Given the description of an element on the screen output the (x, y) to click on. 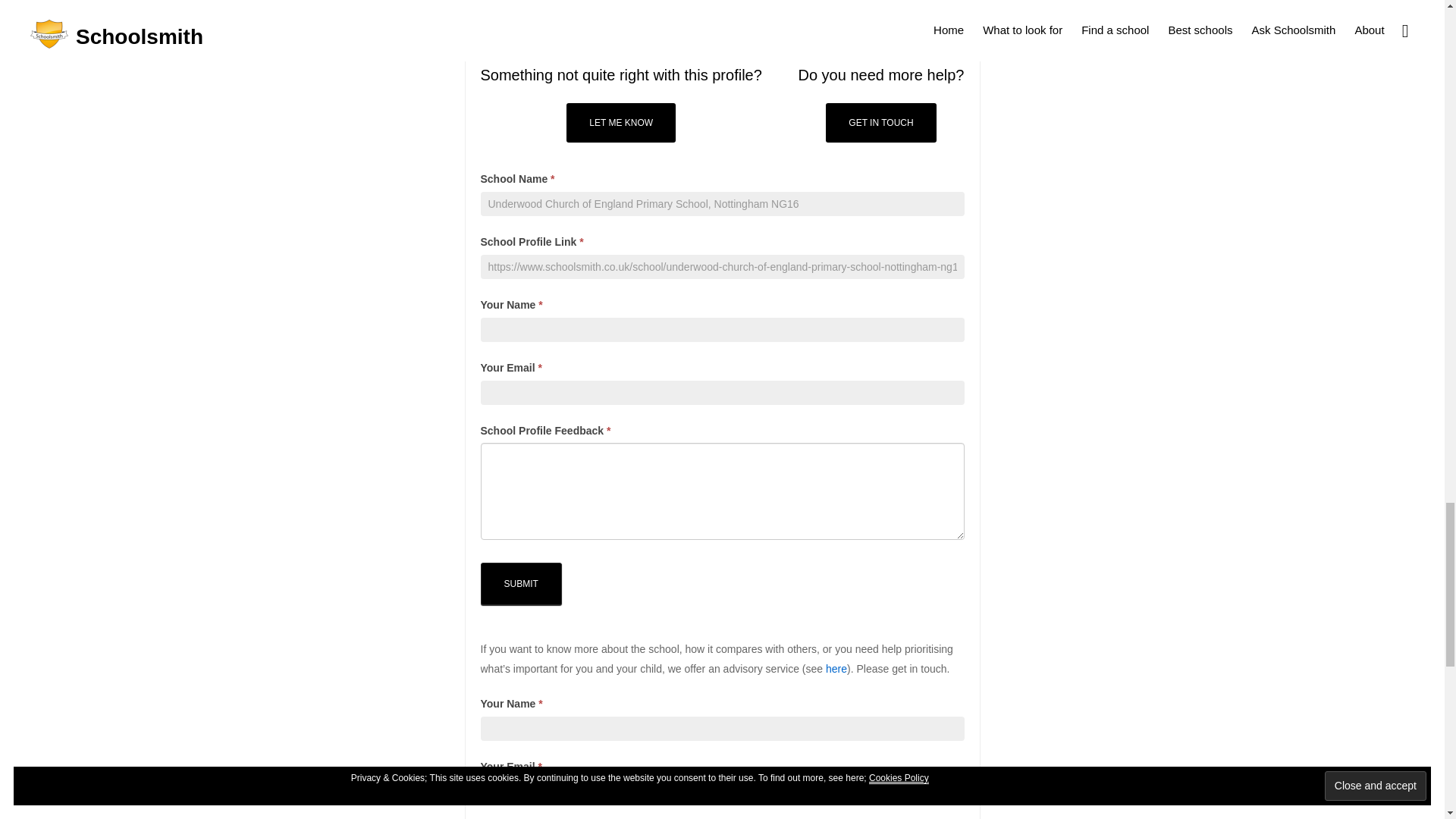
Underwood Church of England Primary School, Nottingham NG16 (721, 203)
here (836, 668)
LET ME KNOW (620, 122)
SUBMIT (521, 583)
GET IN TOUCH (880, 122)
